Given the description of an element on the screen output the (x, y) to click on. 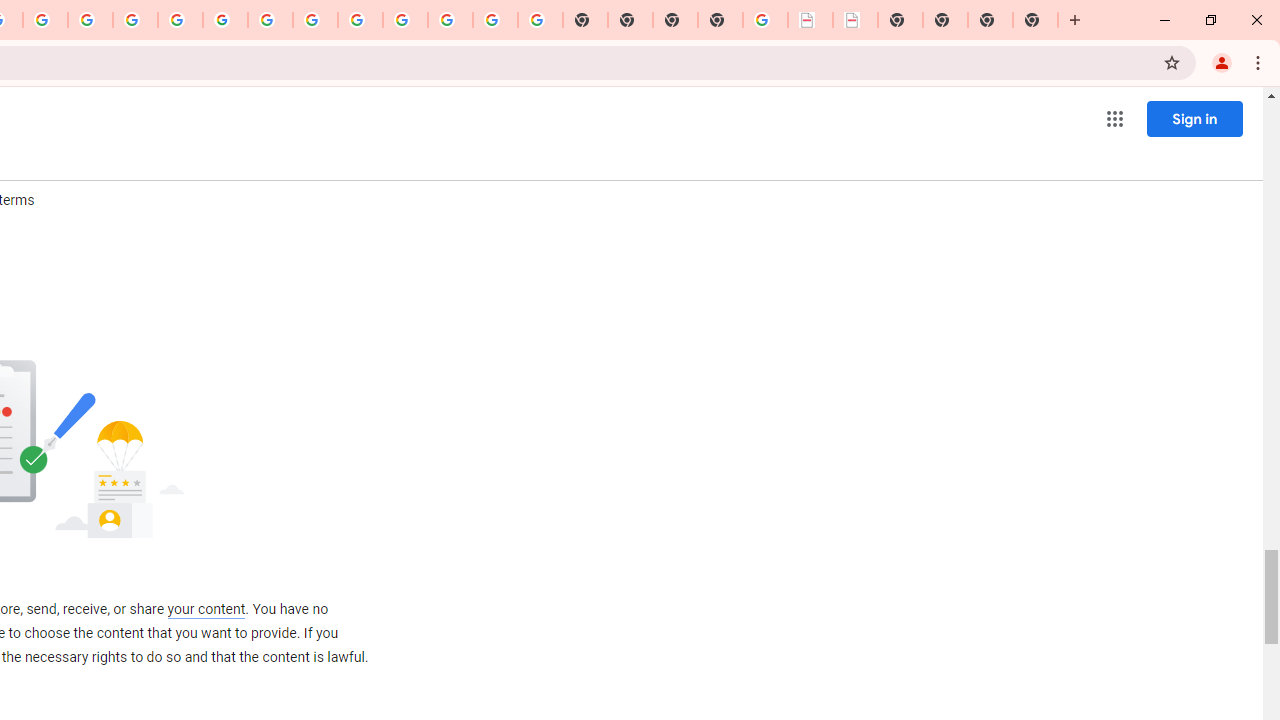
Google Images (540, 20)
Browse Chrome as a guest - Computer - Google Chrome Help (315, 20)
BAE Systems Brasil | BAE Systems (855, 20)
your content (205, 609)
New Tab (720, 20)
LAAD Defence & Security 2025 | BAE Systems (810, 20)
